Given the description of an element on the screen output the (x, y) to click on. 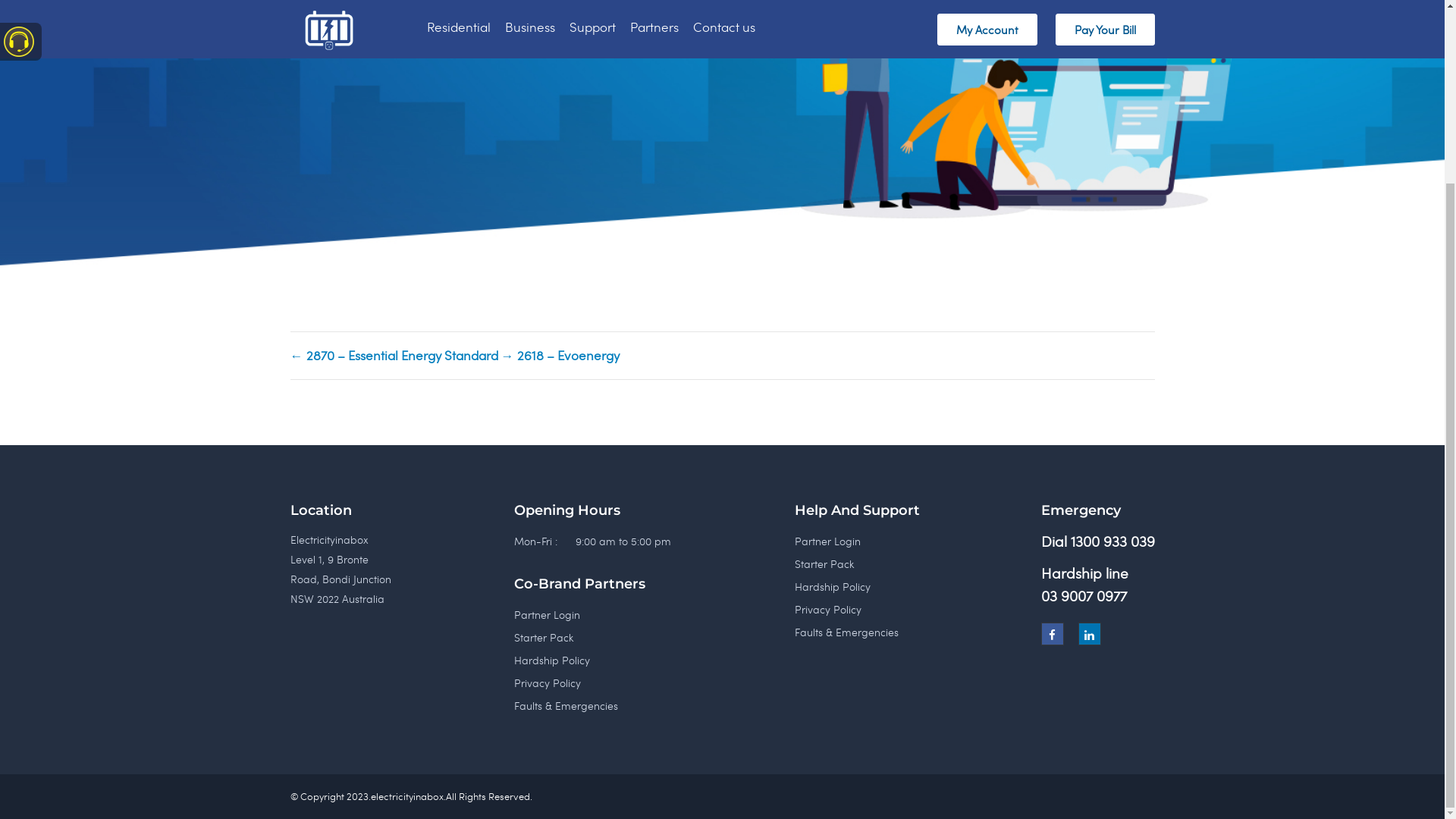
Contact us Element type: text (724, 252)
1300 933 039 Element type: text (1112, 766)
Residential Element type: text (458, 252)
Sign Up Element type: text (337, 200)
Partner Login Element type: text (827, 766)
Partners Element type: text (654, 252)
Pay Your Bill Element type: text (1104, 255)
Support Element type: text (592, 252)
Starter Pack Element type: text (823, 789)
My Account Element type: text (987, 255)
Business Element type: text (530, 252)
